Given the description of an element on the screen output the (x, y) to click on. 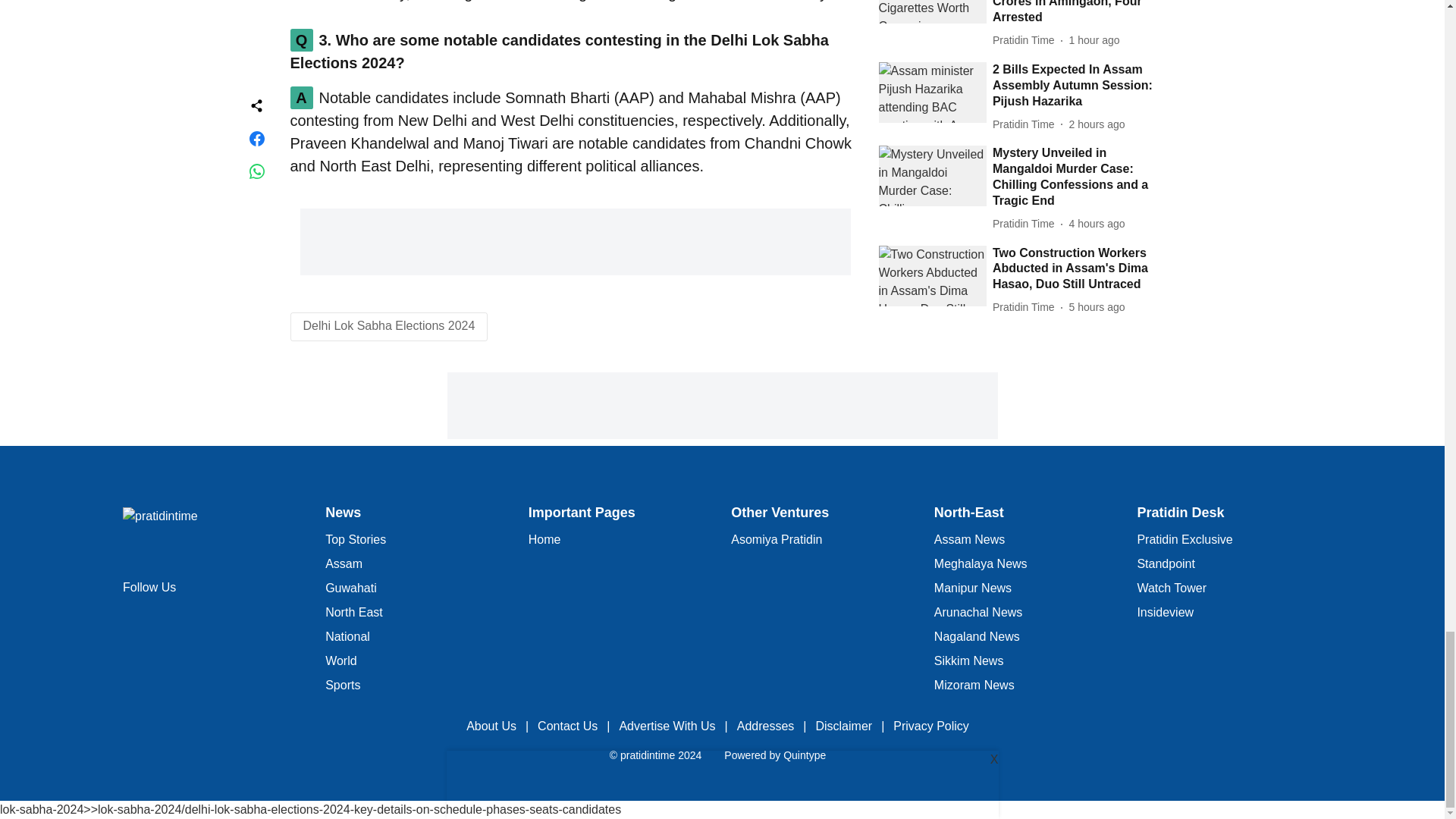
Delhi Lok Sabha Elections 2024 (389, 325)
